Given the description of an element on the screen output the (x, y) to click on. 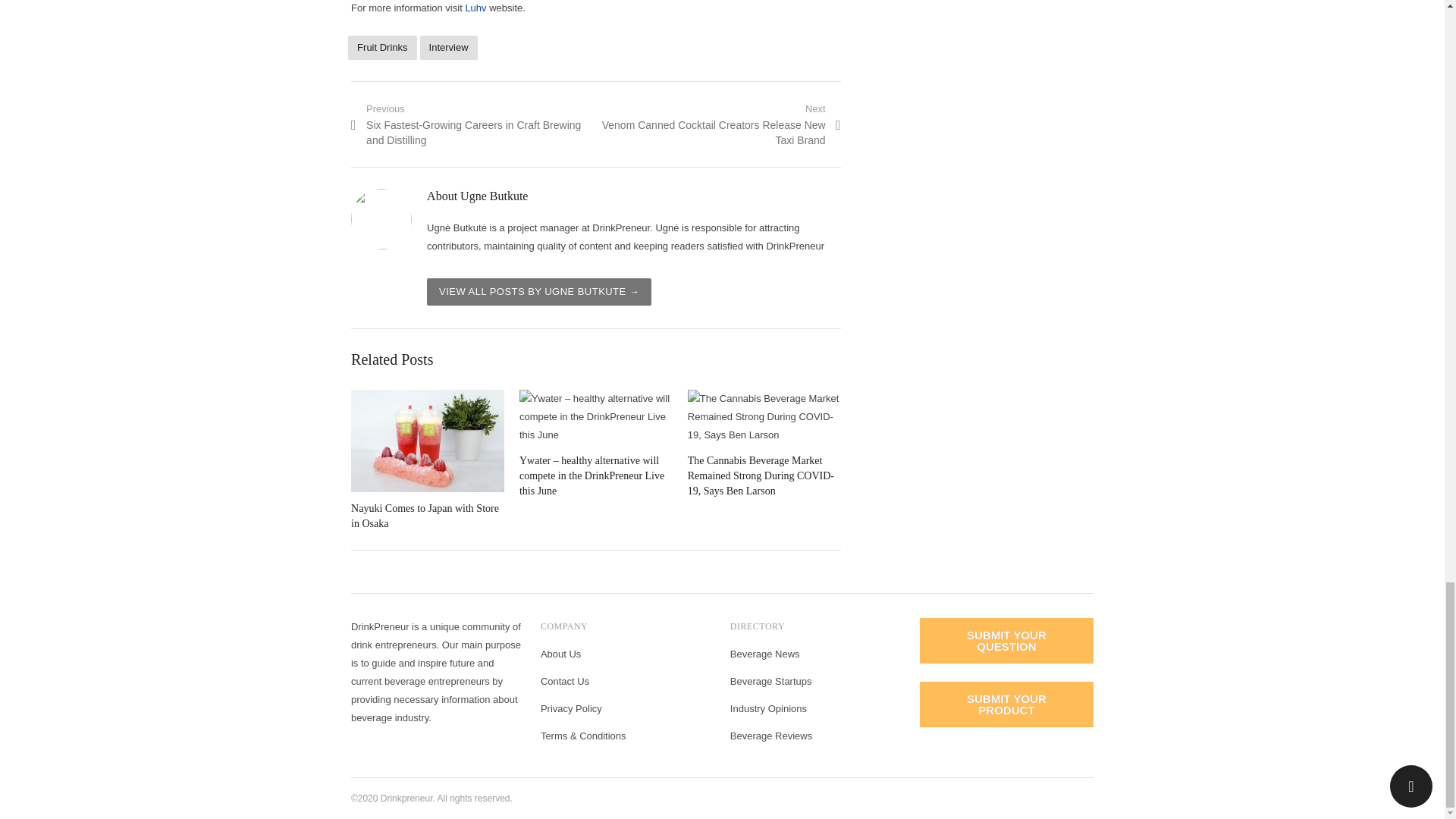
Nayuki Comes to Japan with Store in Osaka (426, 440)
Nayuki Comes to Japan with Store in Osaka (424, 515)
Interview (448, 47)
Luhv (475, 7)
Fruit Drinks (381, 47)
